Given the description of an element on the screen output the (x, y) to click on. 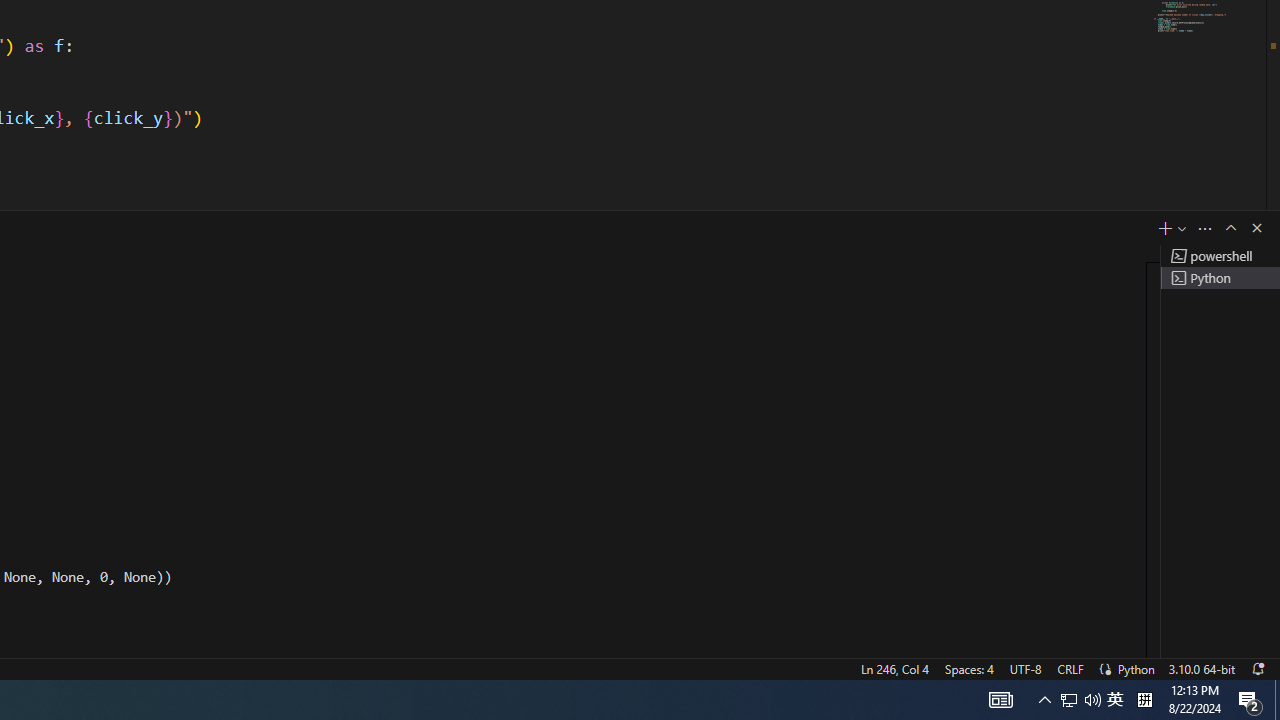
Ln 246, Col 4 (894, 668)
Views and More Actions... (1205, 227)
CRLF (1070, 668)
UTF-8 (1025, 668)
Terminal 2 Python (1220, 277)
Terminal 1 powershell (1220, 255)
Launch Profile... (1181, 227)
Notifications (1257, 668)
Spaces: 4 (968, 668)
Python (1135, 668)
Maximize Panel Size (1230, 227)
